Given the description of an element on the screen output the (x, y) to click on. 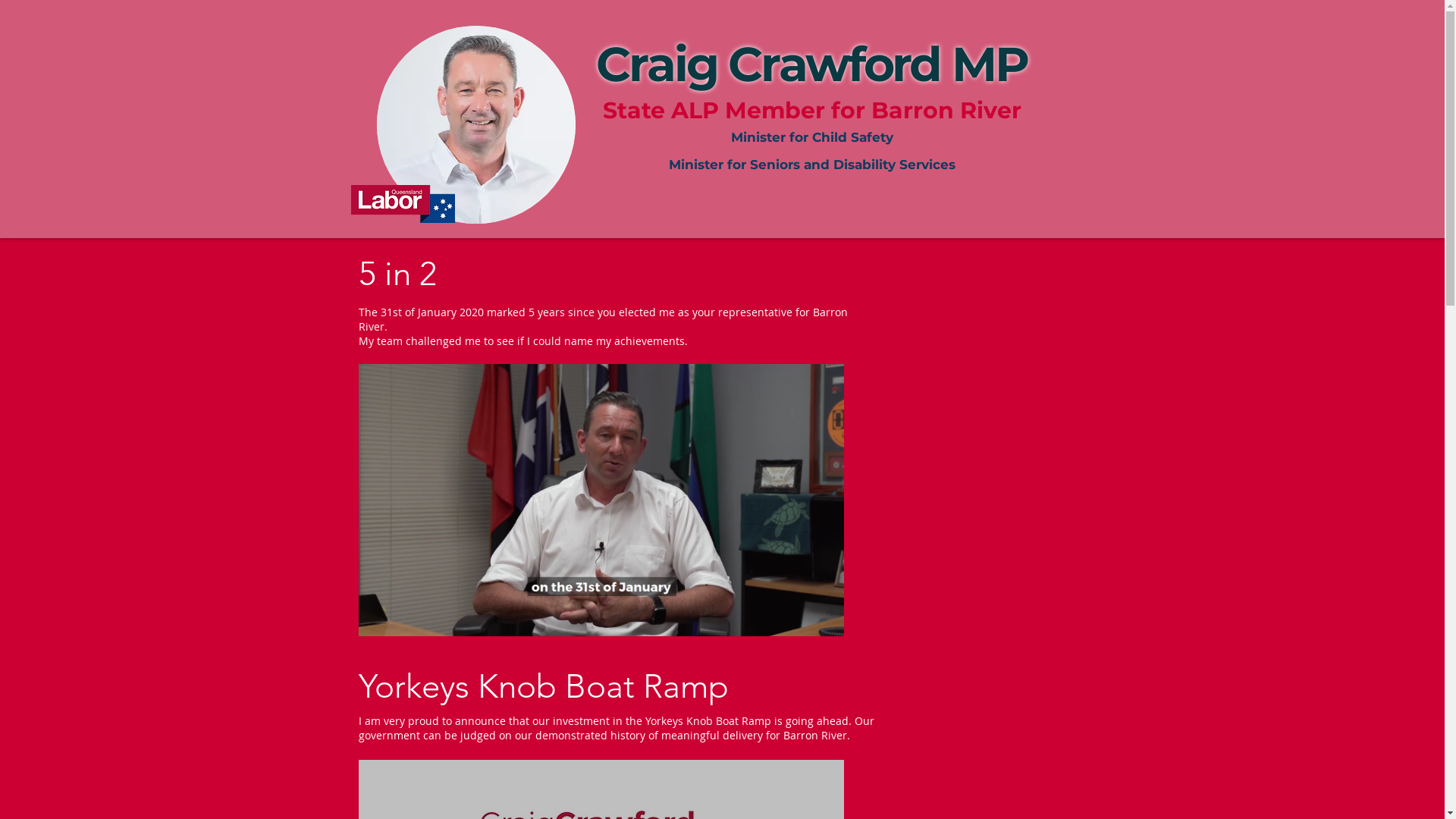
Craig Crawford MP Element type: text (811, 75)
Craig circular.jpg Element type: hover (475, 124)
